Given the description of an element on the screen output the (x, y) to click on. 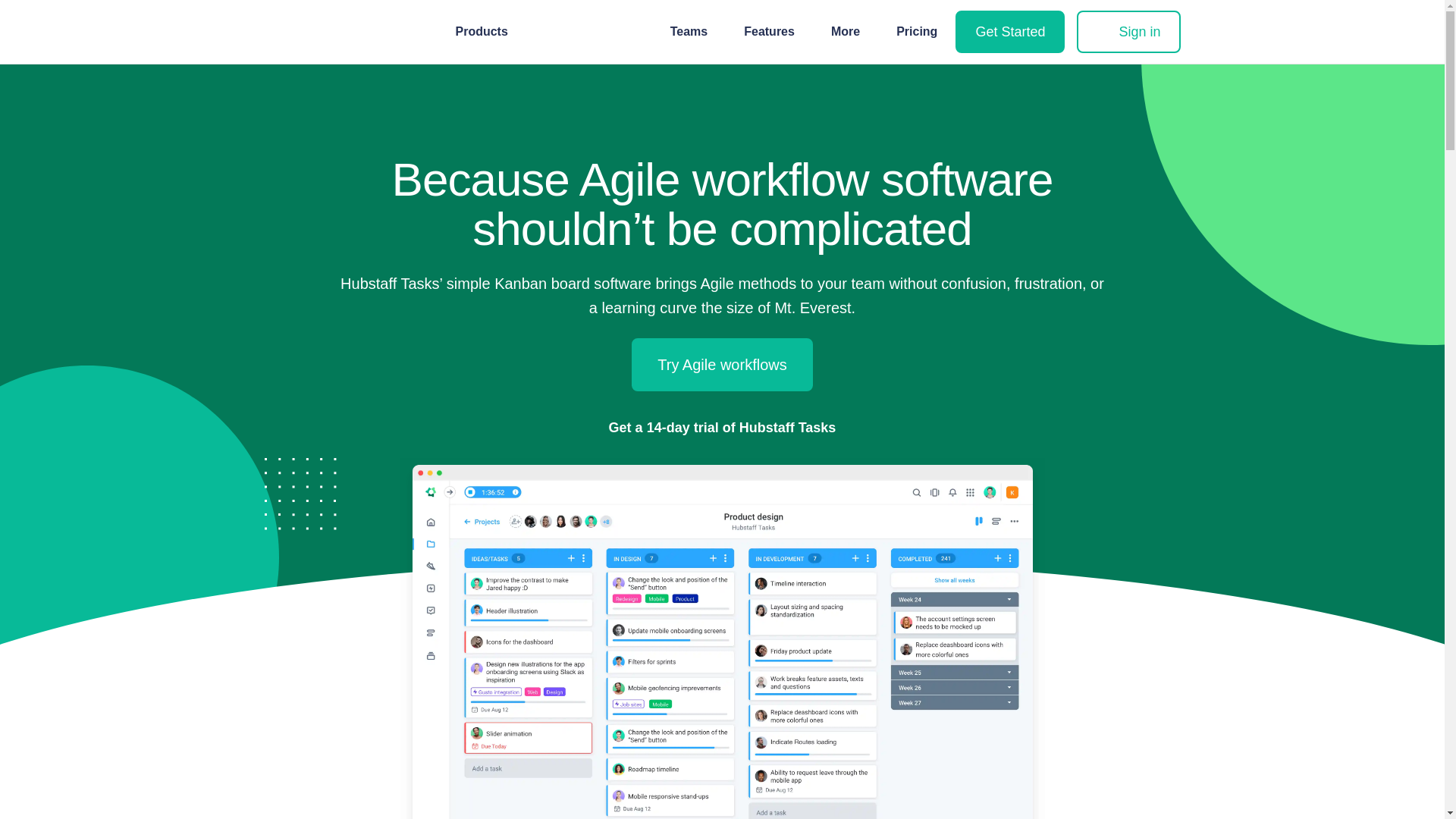
Pricing (916, 31)
Teams (694, 31)
Features (775, 31)
More (851, 31)
Products (486, 31)
Try Agile workflows (721, 364)
Get Started (1009, 32)
Sign in (1128, 32)
